Given the description of an element on the screen output the (x, y) to click on. 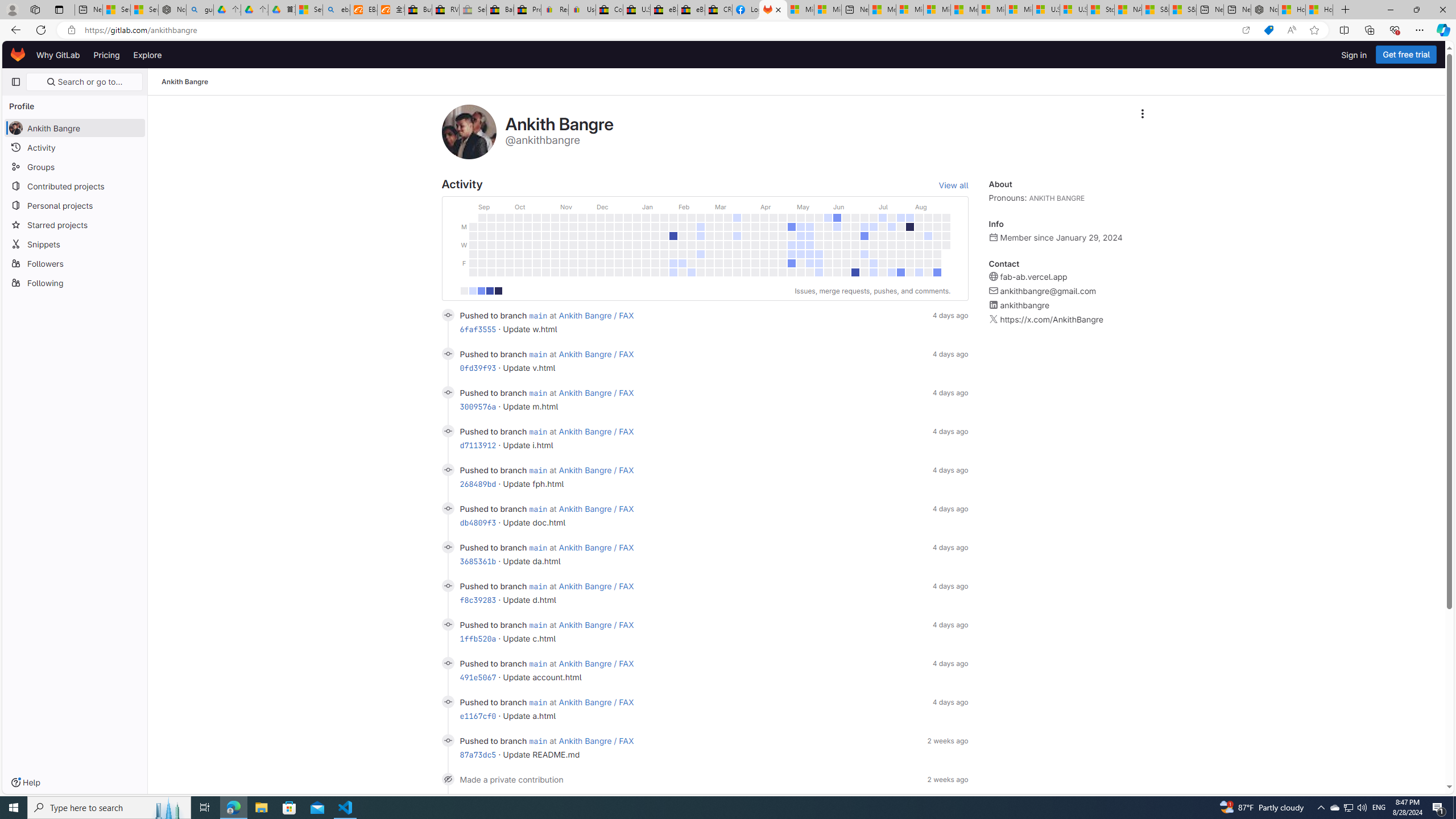
Contributed projects (74, 185)
S&P 500, Nasdaq end lower, weighed by Nvidia dip | Watch (1182, 9)
Explore (146, 54)
